Given the description of an element on the screen output the (x, y) to click on. 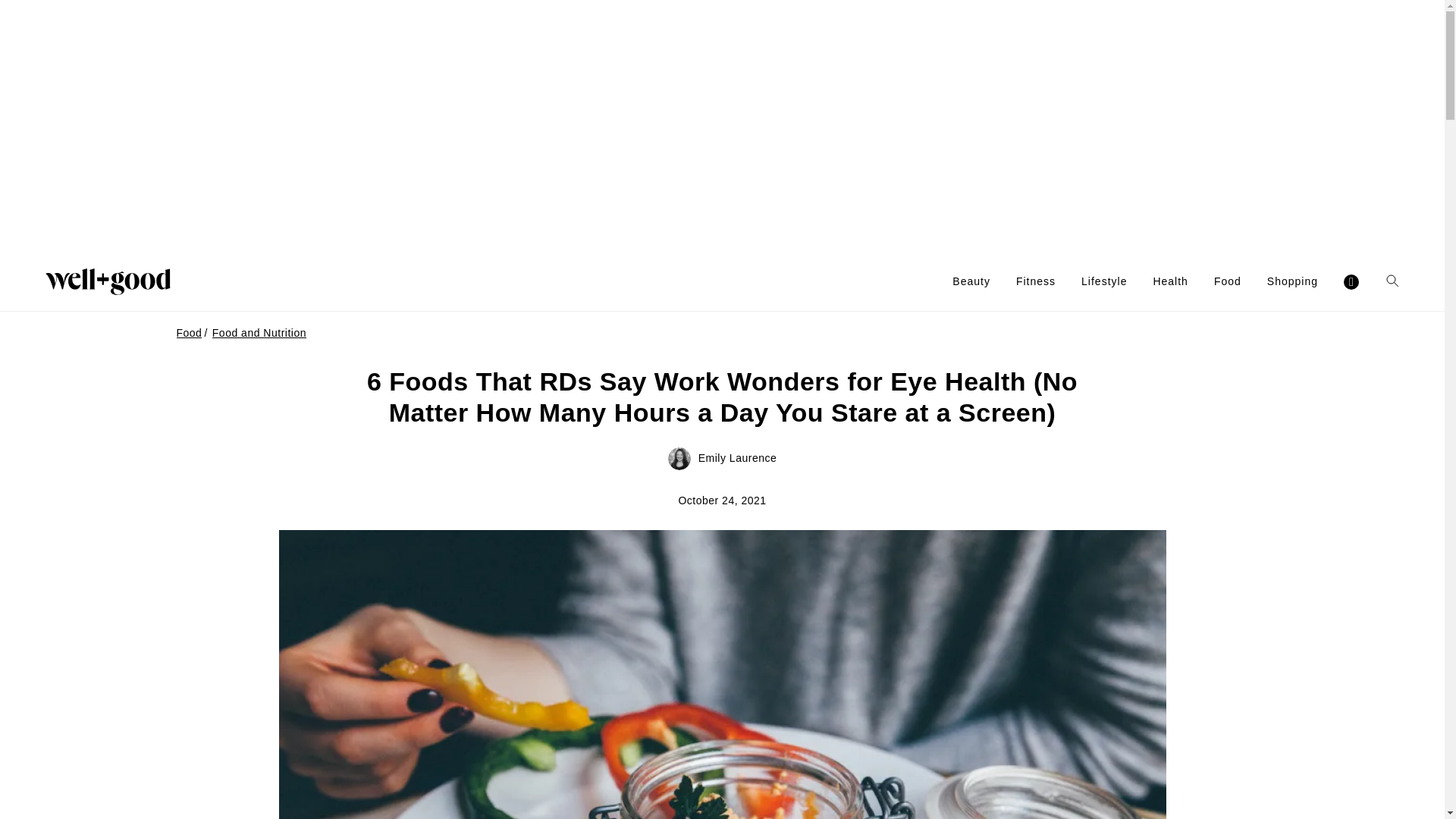
Fitness (1035, 281)
Food (1227, 281)
Lifestyle (1103, 281)
Shopping (1291, 281)
Health (1170, 281)
Beauty (971, 281)
